Given the description of an element on the screen output the (x, y) to click on. 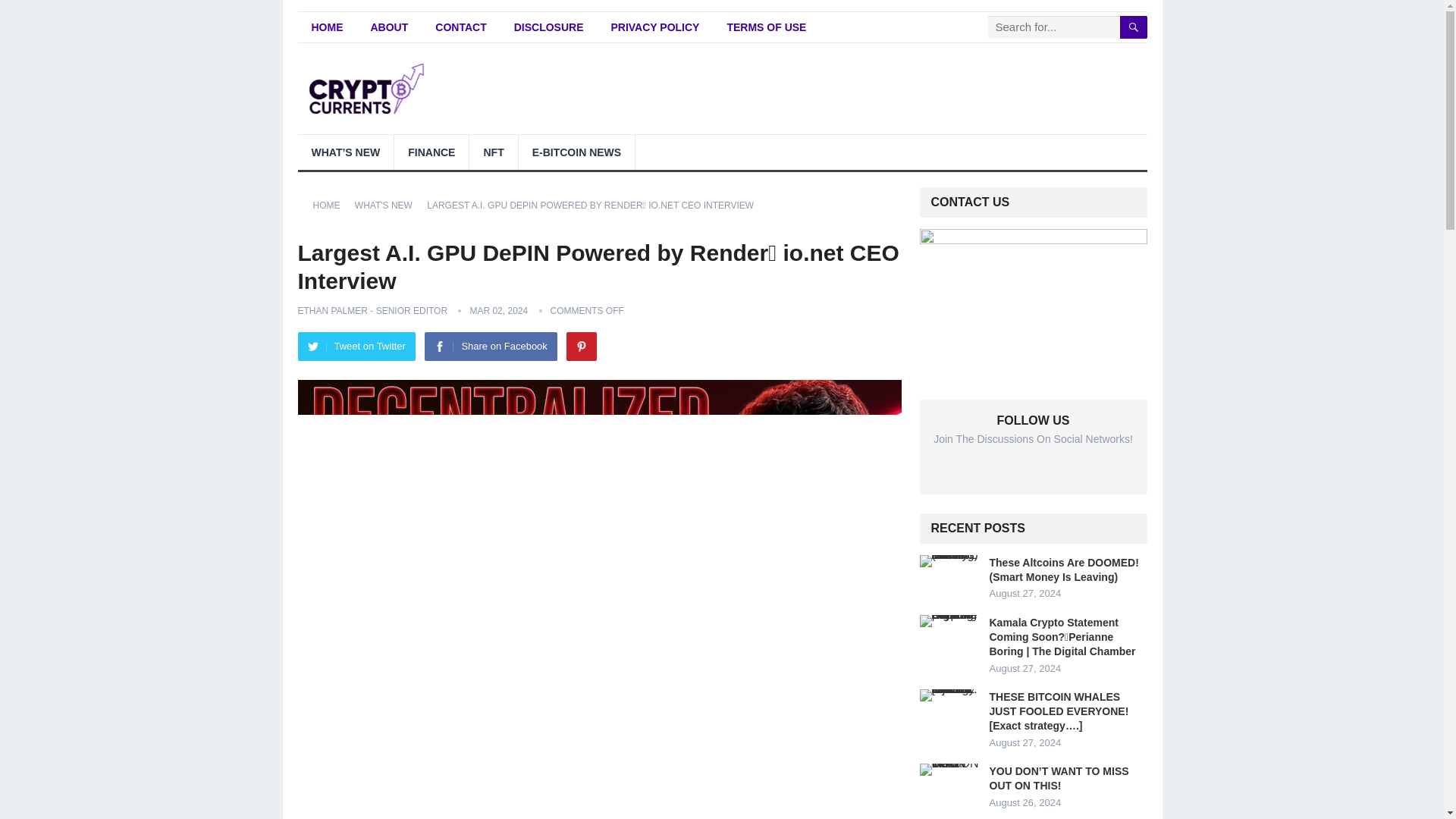
HOME (326, 27)
Posts by Ethan Palmer - Senior Editor (371, 310)
View all posts in What's New (389, 204)
NFT (492, 152)
ETHAN PALMER - SENIOR EDITOR (371, 310)
YouTube video player (599, 776)
E-BITCOIN NEWS (576, 152)
DISCLOSURE (548, 27)
FINANCE (431, 152)
HOME (331, 204)
